Given the description of an element on the screen output the (x, y) to click on. 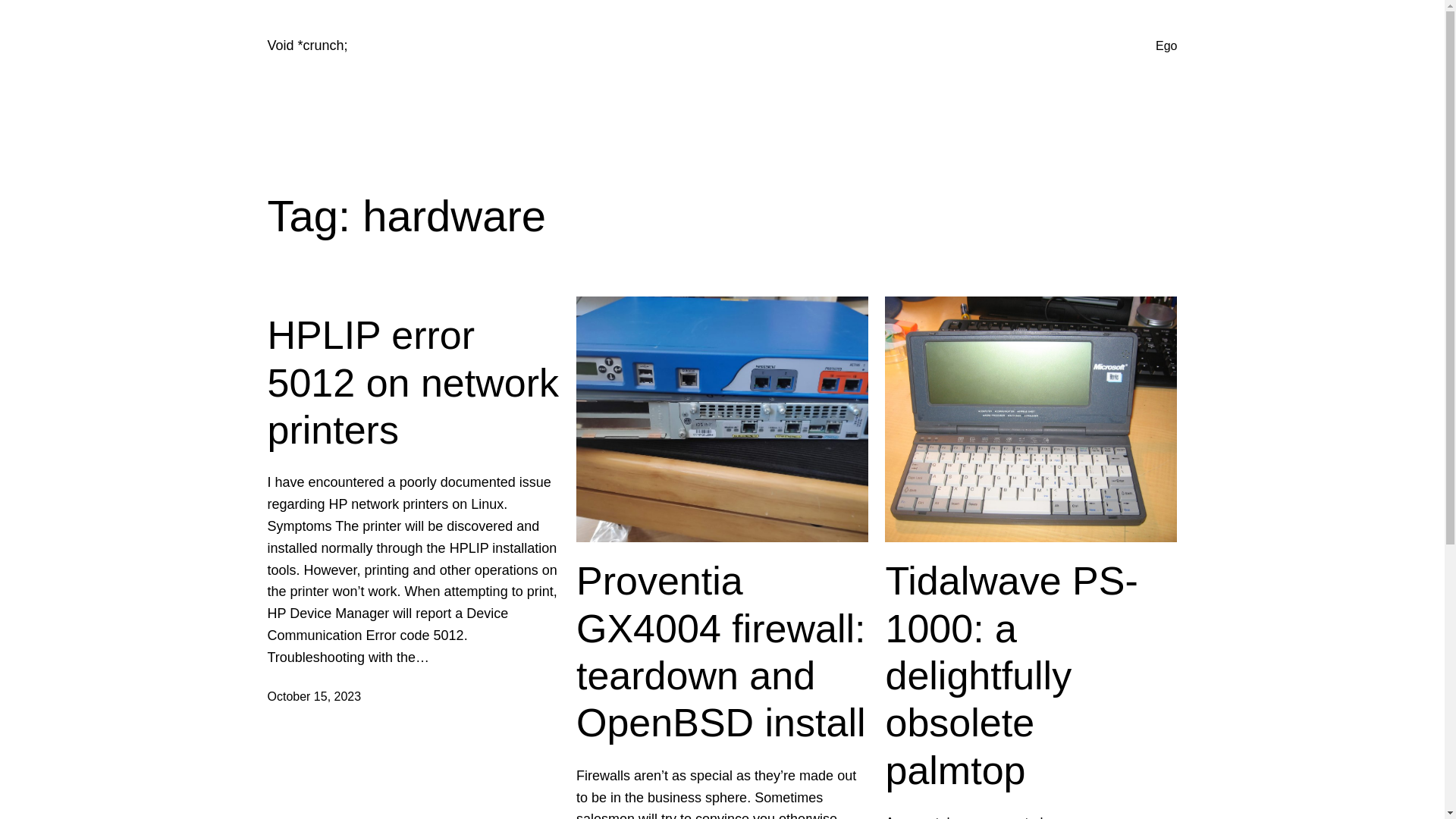
HPLIP error 5012 on network printers (412, 382)
Tidalwave PS-1000: a delightfully obsolete palmtop (1030, 675)
October 15, 2023 (313, 696)
Ego (1166, 46)
Proventia GX4004 firewall: teardown and OpenBSD install (721, 651)
